Given the description of an element on the screen output the (x, y) to click on. 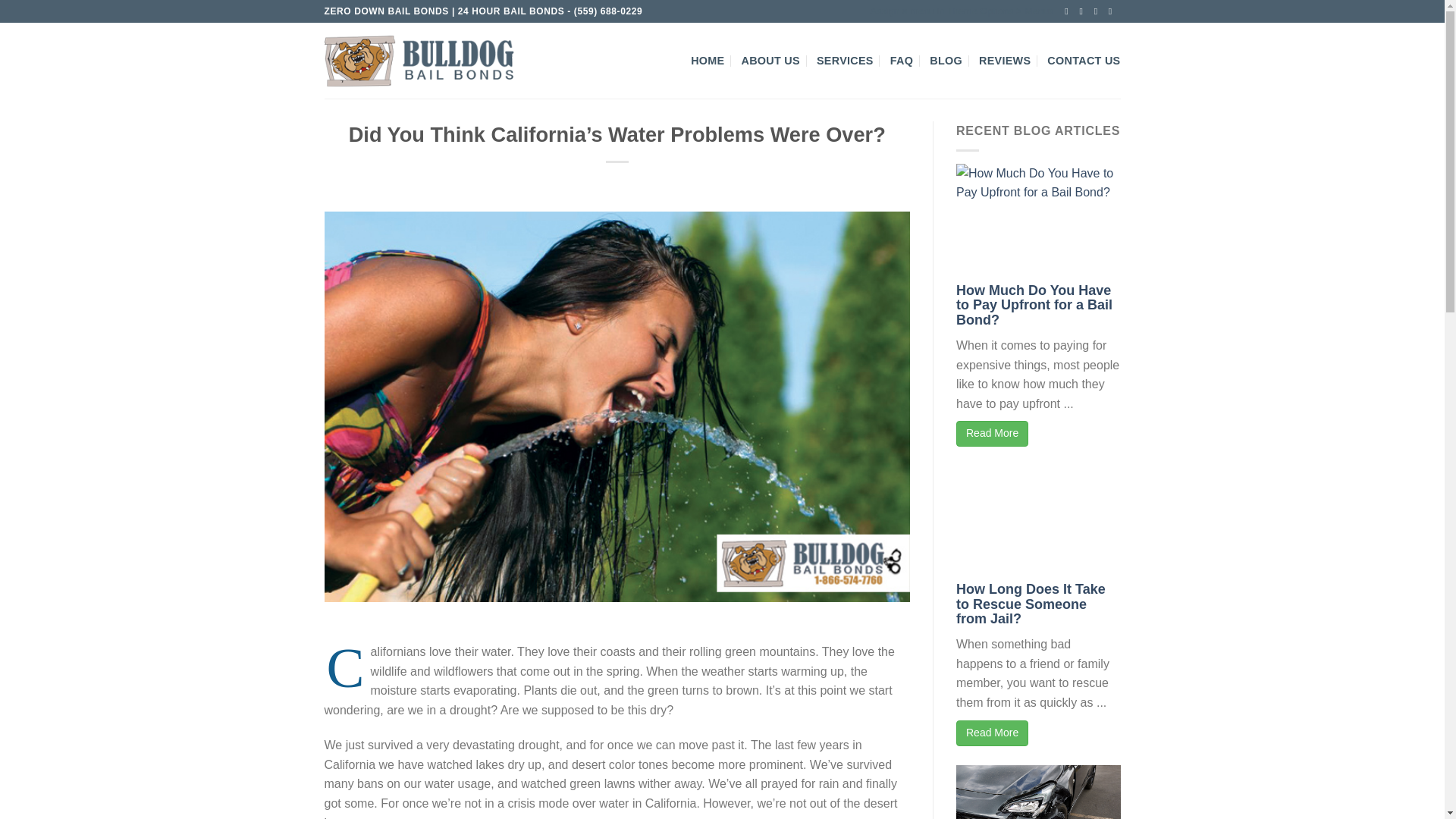
Read More (991, 733)
How Long Does It Take to Rescue Someone from Jail? (1030, 604)
REVIEWS (1004, 60)
HOME (706, 60)
How Much Do You Have to Pay Upfront for a Bail Bond? (1034, 305)
Read More (991, 433)
ABOUT US (770, 60)
SERVICES (844, 60)
CONTACT US (1082, 60)
BLOG (946, 60)
